Given the description of an element on the screen output the (x, y) to click on. 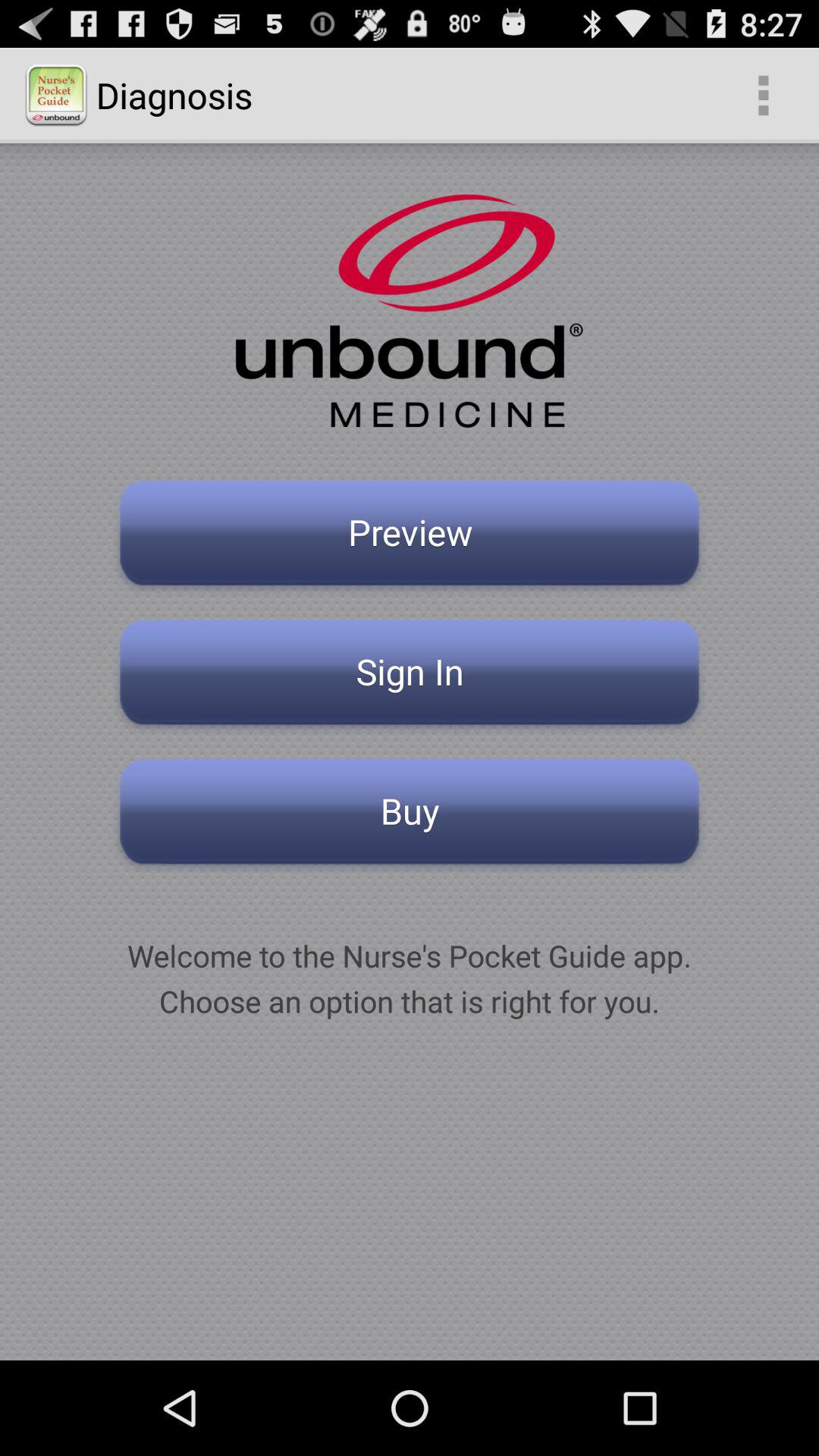
open the icon to the right of the diagnosis item (763, 95)
